Given the description of an element on the screen output the (x, y) to click on. 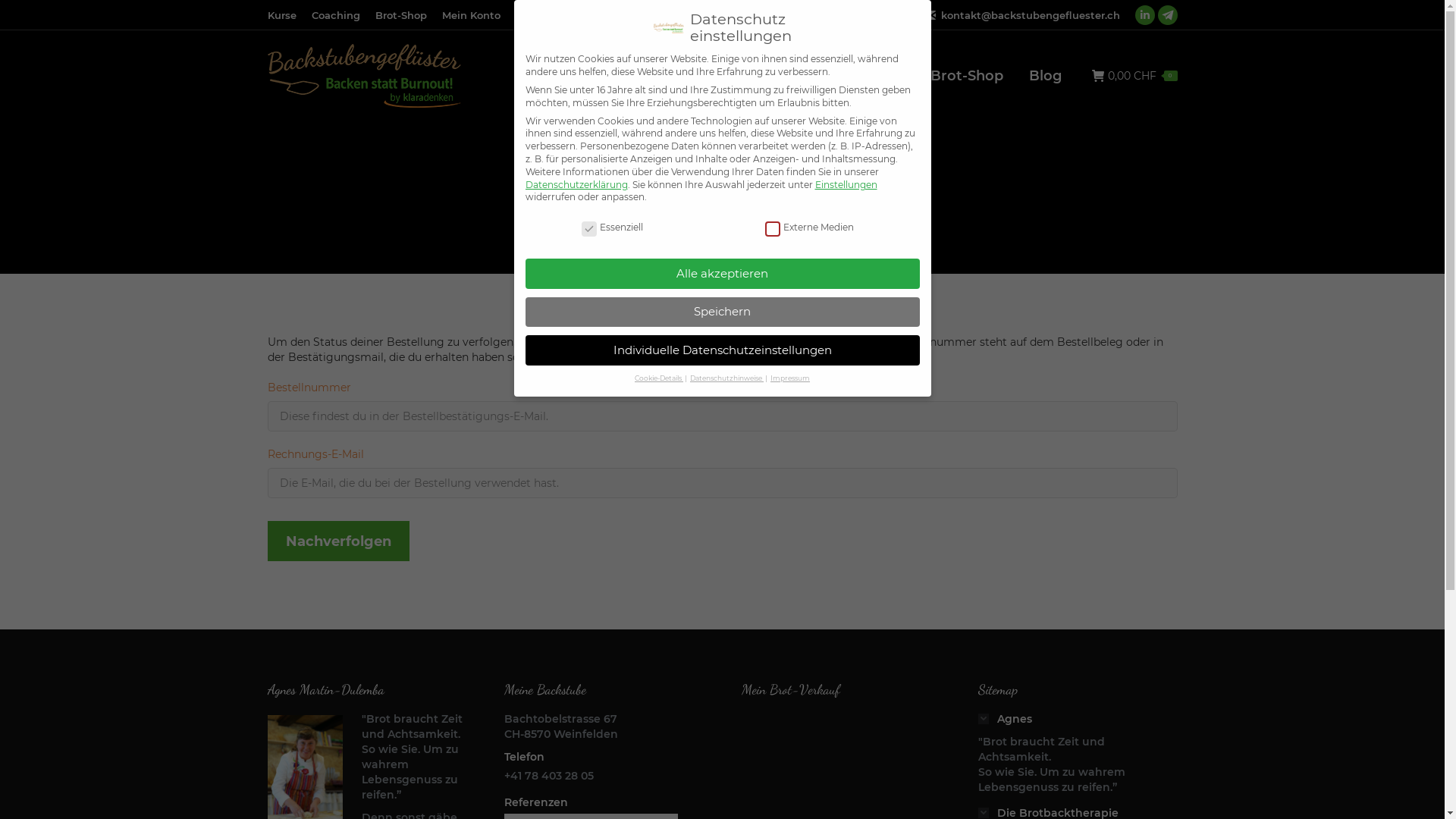
Cookie-Details Element type: text (658, 377)
Telegram page opens in new window Element type: text (1166, 15)
Impressum Element type: text (789, 377)
Blog Element type: text (1044, 75)
Coaching Element type: text (334, 14)
Nachverfolgen Element type: text (337, 540)
Linkedin page opens in new window Element type: text (1144, 15)
Mein Konto Element type: text (470, 14)
Alle akzeptieren Element type: text (721, 273)
Start Element type: text (677, 221)
+41 78 403 2805 Element type: text (864, 14)
Brot-Shop Element type: text (400, 14)
Blog Element type: text (527, 14)
Kurse Element type: text (884, 75)
0,00 CHF
0 Element type: text (1134, 75)
Einstellungen Element type: text (845, 184)
Brot-Shop Element type: text (965, 75)
Agnes Element type: text (1005, 718)
Individuelle Datenschutzeinstellungen Element type: text (721, 349)
Die Brotbacktherapie Element type: text (762, 75)
Speichern Element type: text (721, 311)
Agnes Element type: text (638, 75)
kontakt@backstubengefluester.ch Element type: text (1029, 14)
Datenschutzhinweise Element type: text (726, 377)
Kurse Element type: text (280, 14)
